Given the description of an element on the screen output the (x, y) to click on. 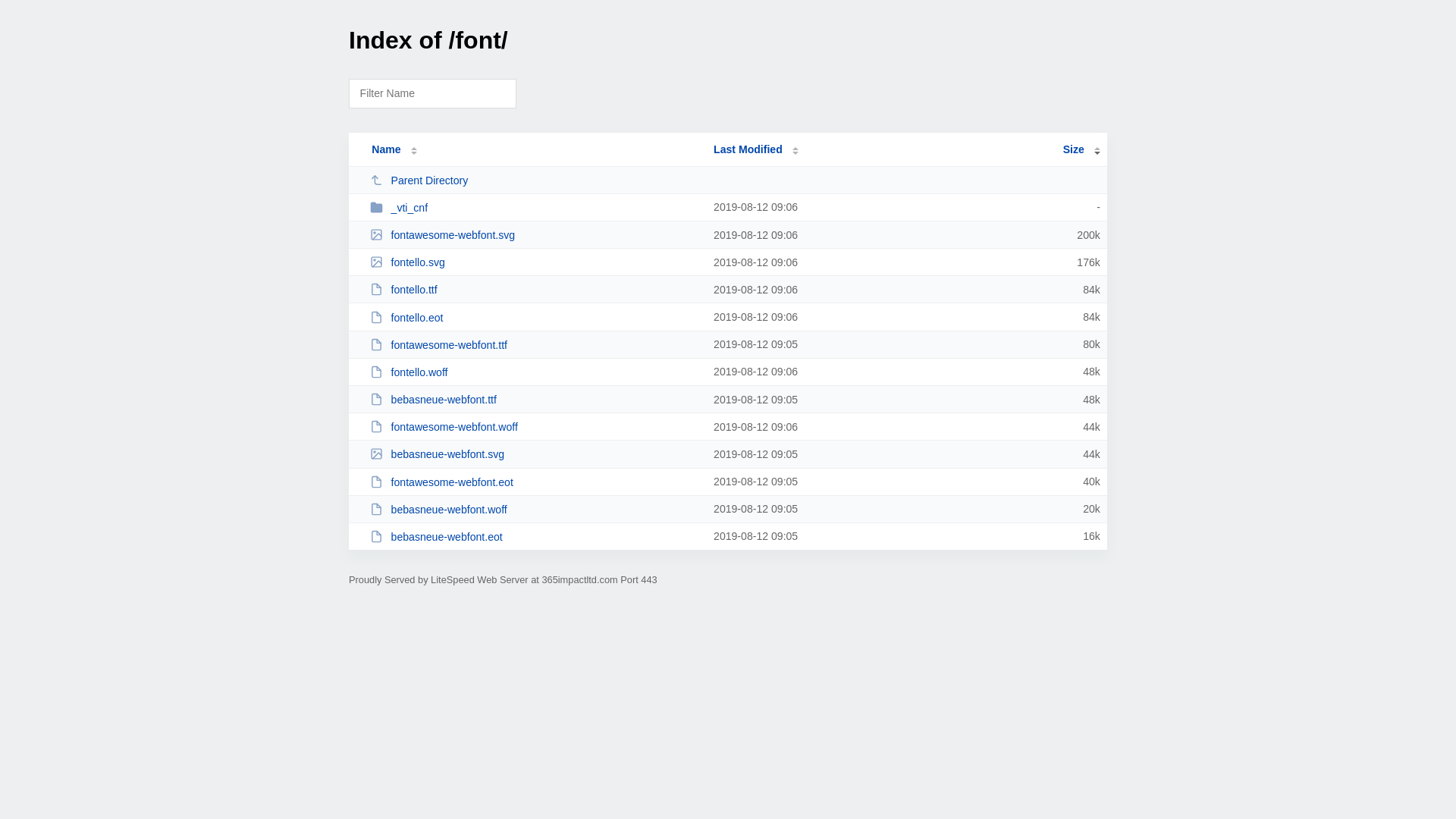
bebasneue-webfont.svg Element type: text (534, 453)
bebasneue-webfont.eot Element type: text (534, 536)
bebasneue-webfont.woff Element type: text (534, 508)
fontello.ttf Element type: text (534, 288)
Last Modified Element type: text (755, 149)
fontawesome-webfont.eot Element type: text (534, 481)
fontawesome-webfont.svg Element type: text (534, 234)
bebasneue-webfont.ttf Element type: text (534, 398)
fontello.svg Element type: text (534, 261)
fontawesome-webfont.ttf Element type: text (534, 344)
fontello.eot Element type: text (534, 316)
Name Element type: text (385, 149)
Parent Directory Element type: text (534, 179)
Size Element type: text (1081, 149)
fontello.woff Element type: text (534, 371)
fontawesome-webfont.woff Element type: text (534, 426)
_vti_cnf Element type: text (534, 206)
